Given the description of an element on the screen output the (x, y) to click on. 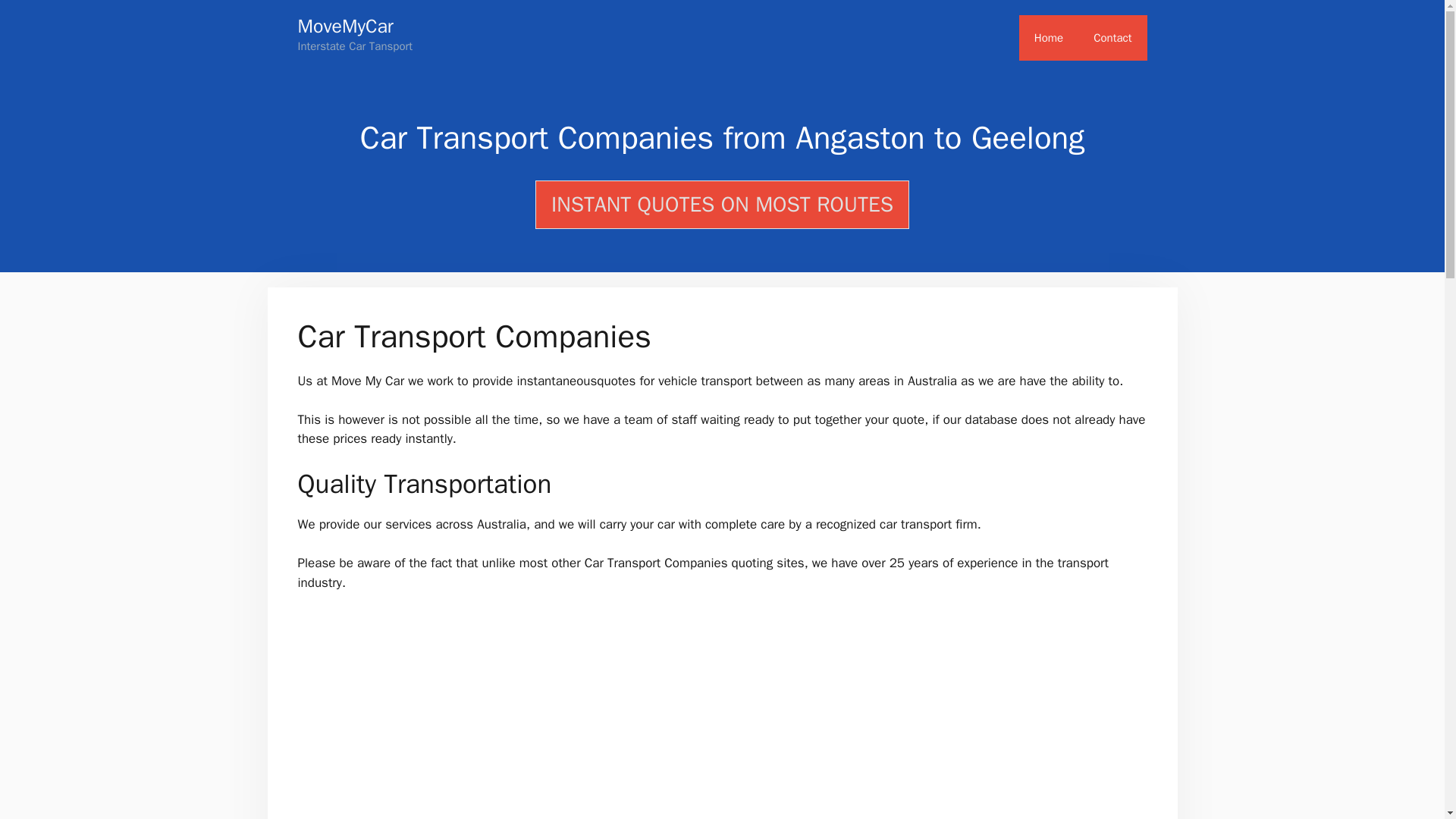
Contact (1112, 37)
Home (1048, 37)
MoveMyCar (345, 25)
INSTANT QUOTES ON MOST ROUTES (721, 204)
